Given the description of an element on the screen output the (x, y) to click on. 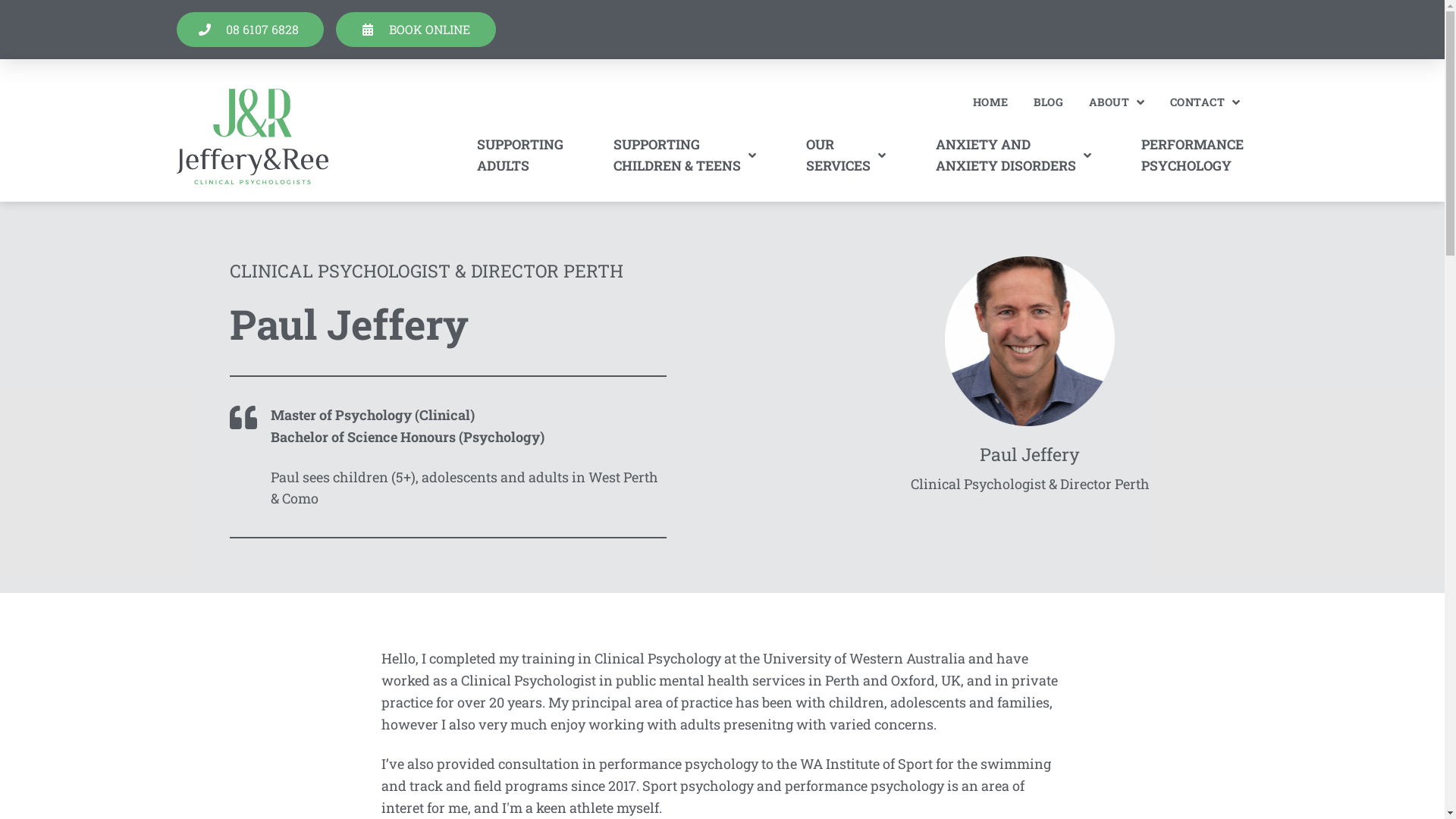
ABOUT Element type: text (1116, 102)
HOME Element type: text (990, 102)
BOOK ONLINE Element type: text (415, 29)
PERFORMANCE
PSYCHOLOGY Element type: text (1192, 155)
BLOG Element type: text (1048, 102)
OUR
SERVICES Element type: text (845, 155)
SUPPORTING
ADULTS Element type: text (520, 155)
CONTACT Element type: text (1204, 102)
ANXIETY AND
ANXIETY DISORDERS Element type: text (1012, 155)
SUPPORTING
CHILDREN & TEENS Element type: text (684, 155)
08 6107 6828 Element type: text (249, 29)
